Given the description of an element on the screen output the (x, y) to click on. 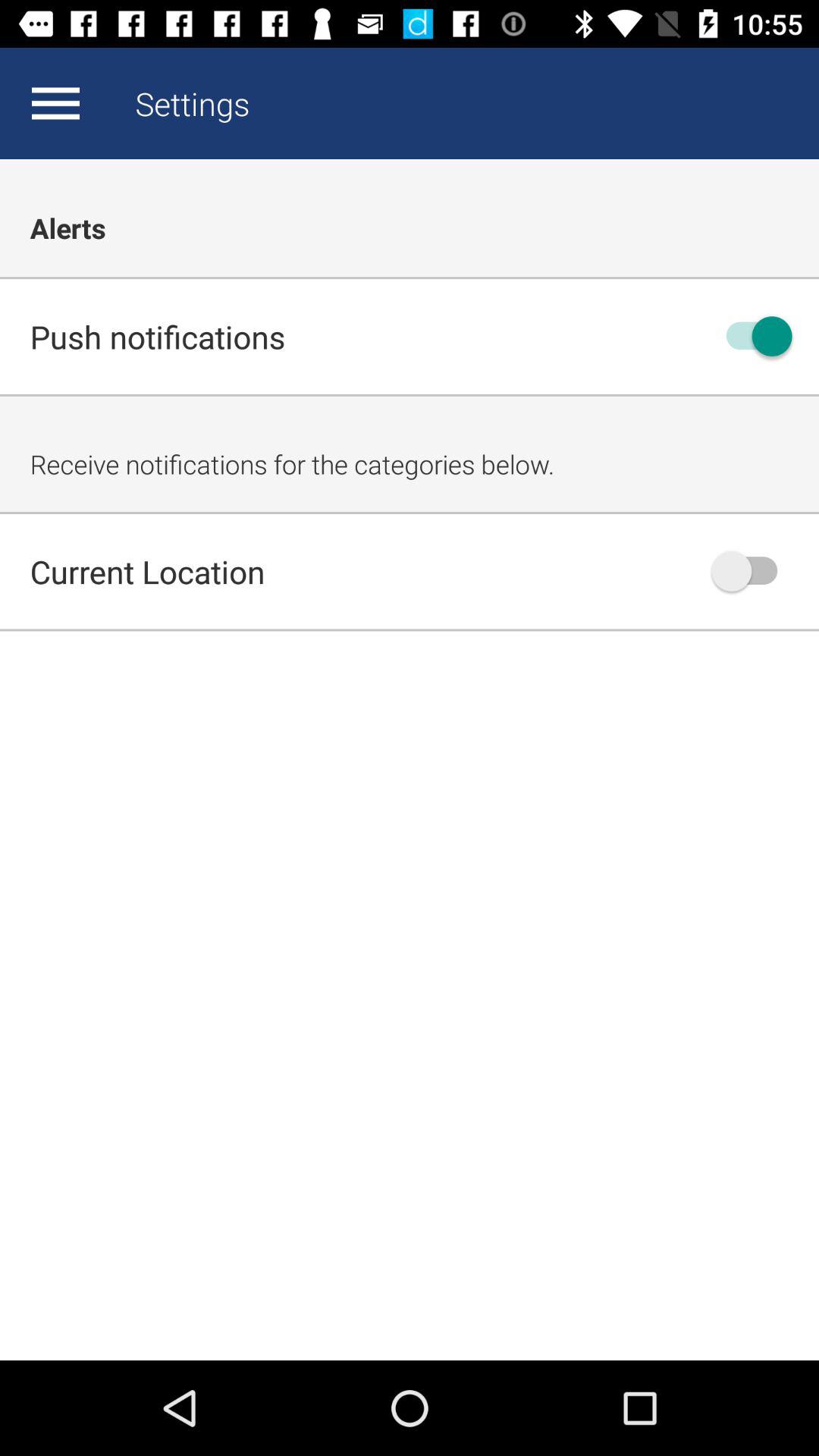
turn on item to the left of settings (55, 103)
